Given the description of an element on the screen output the (x, y) to click on. 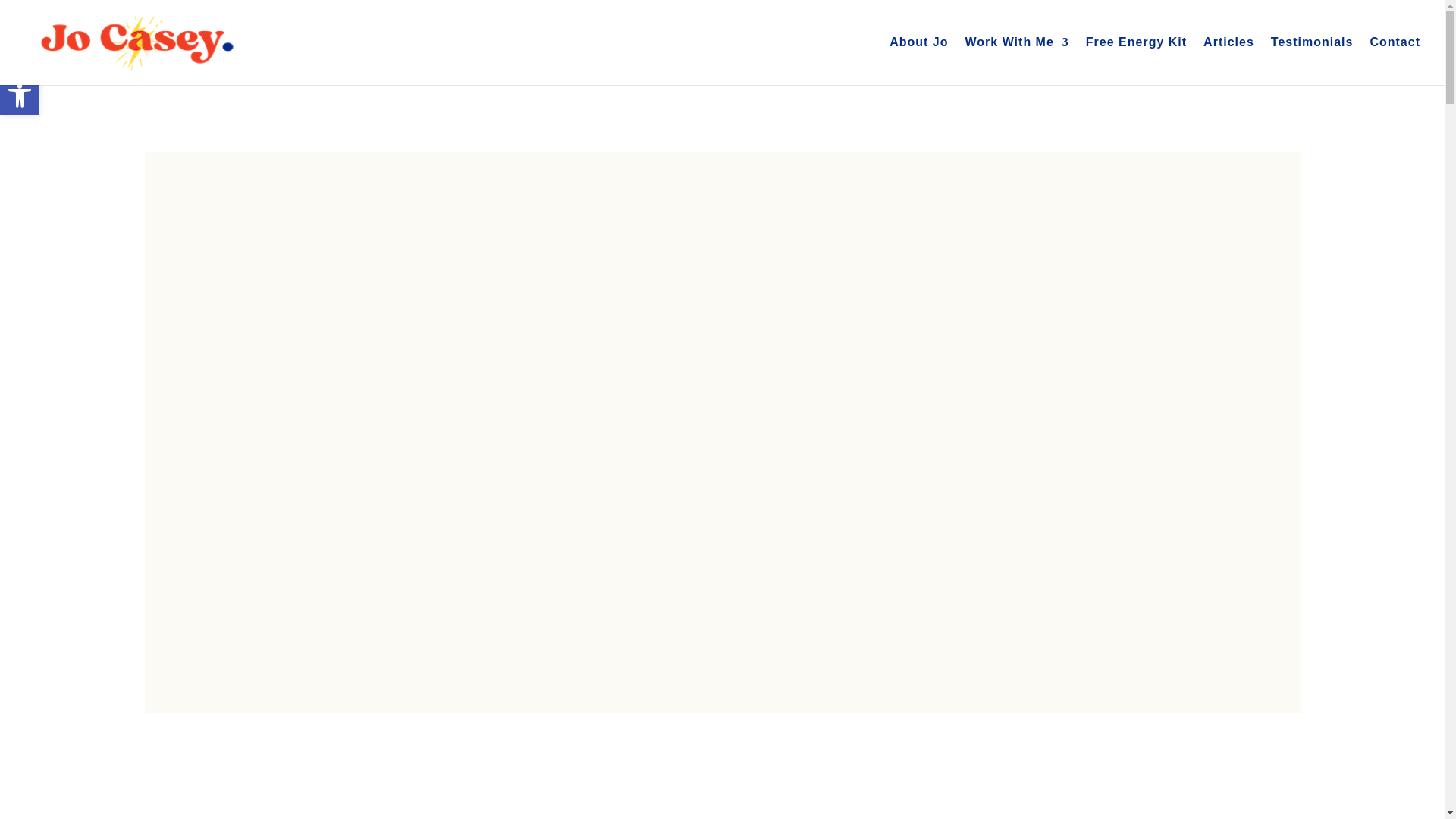
Testimonials (1312, 60)
Work With Me (1015, 60)
Accessibility Tools (19, 95)
Free Energy Kit (19, 95)
About Jo (1136, 60)
Accessibility Tools (918, 60)
Contact (19, 95)
Articles (1395, 60)
